Given the description of an element on the screen output the (x, y) to click on. 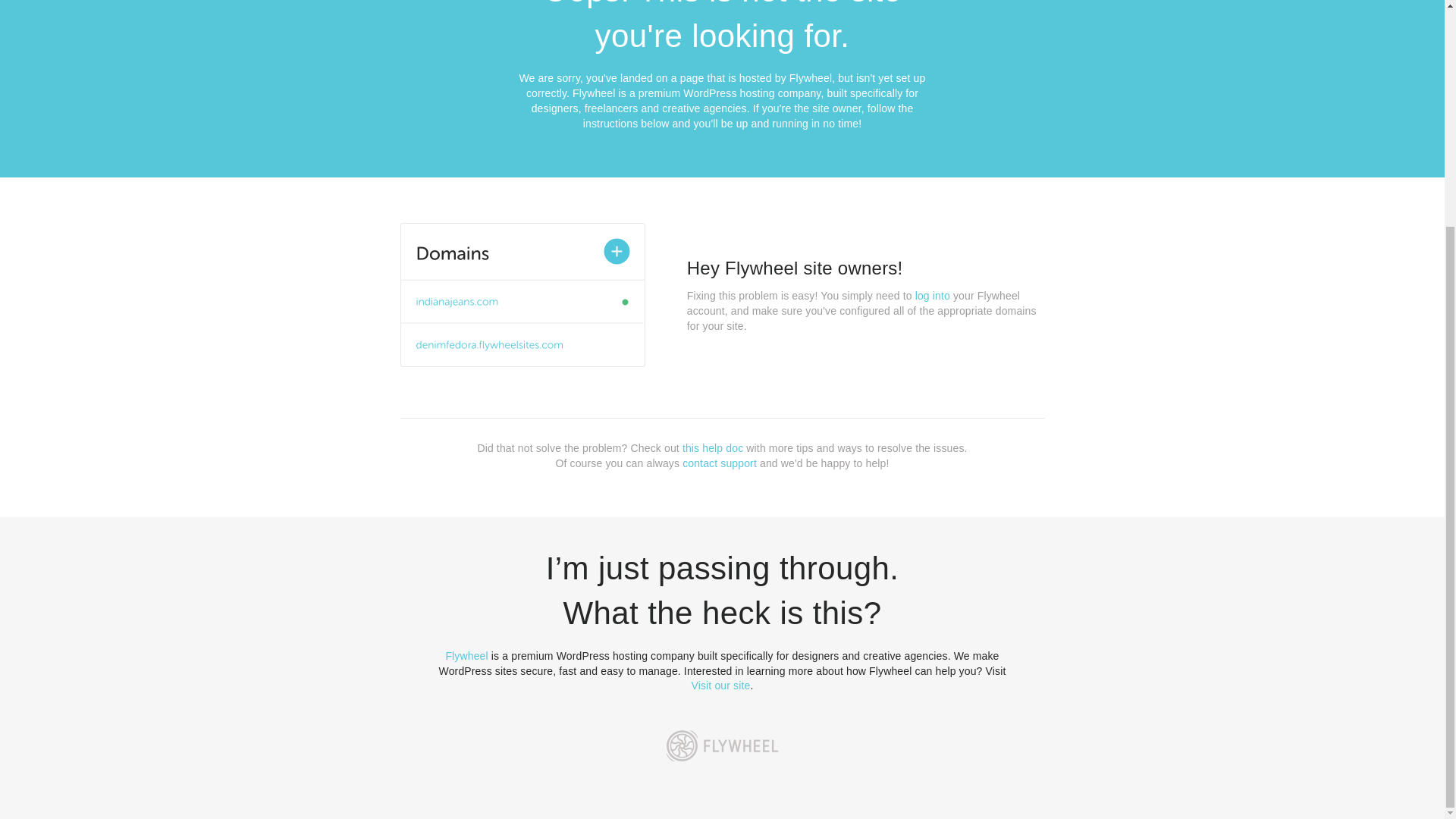
Flywheel (466, 655)
contact support (719, 463)
this help doc (712, 448)
Visit our site (721, 685)
log into (932, 295)
